Given the description of an element on the screen output the (x, y) to click on. 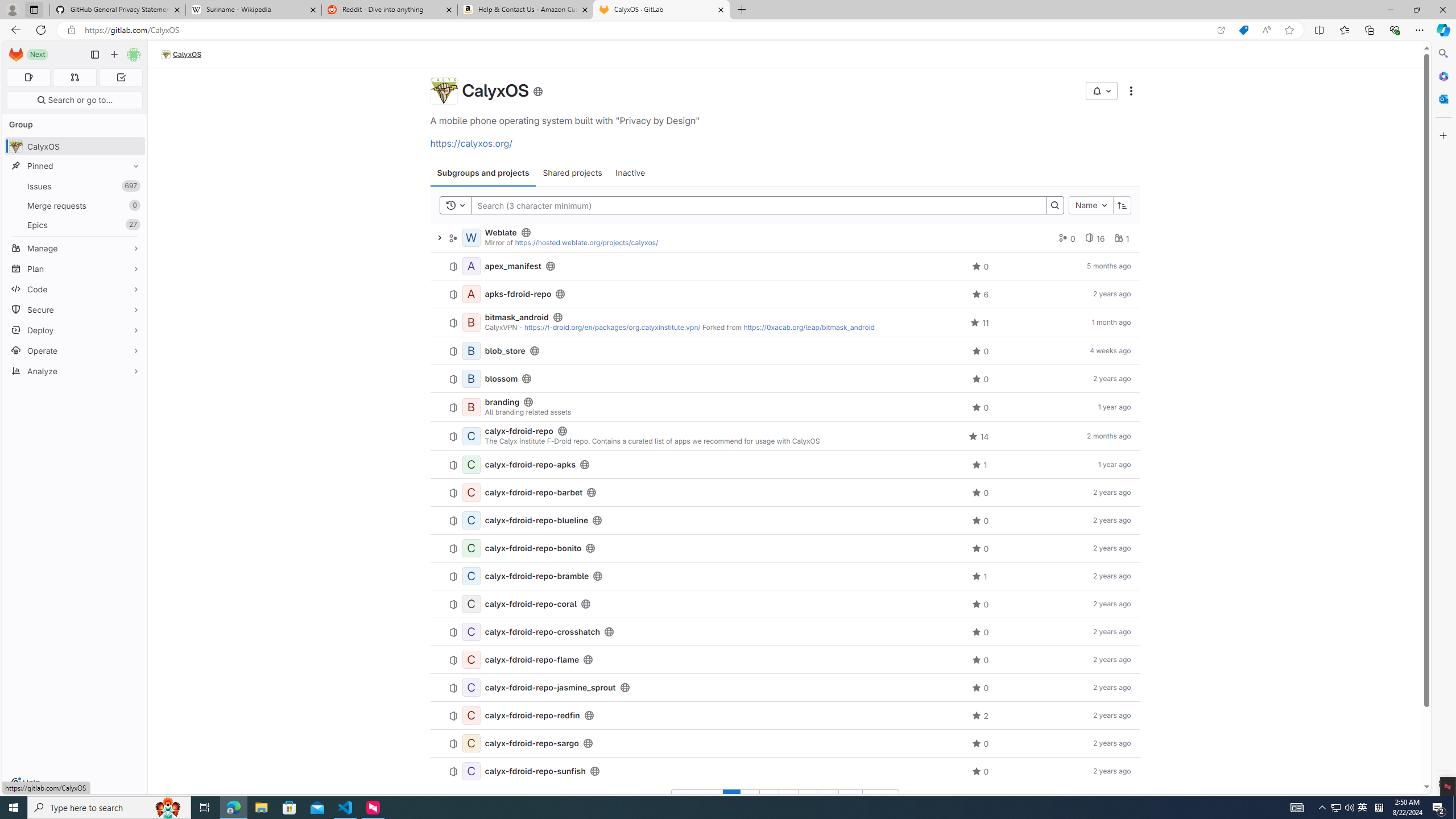
4 (787, 799)
Ccalyx-fdroid-repo-crosshatch02 years ago (784, 632)
Merge requests0 (74, 205)
Analyze (74, 370)
Plan (74, 268)
https://0xacab.org/leap/bitmask_android (809, 326)
2 (750, 799)
